Given the description of an element on the screen output the (x, y) to click on. 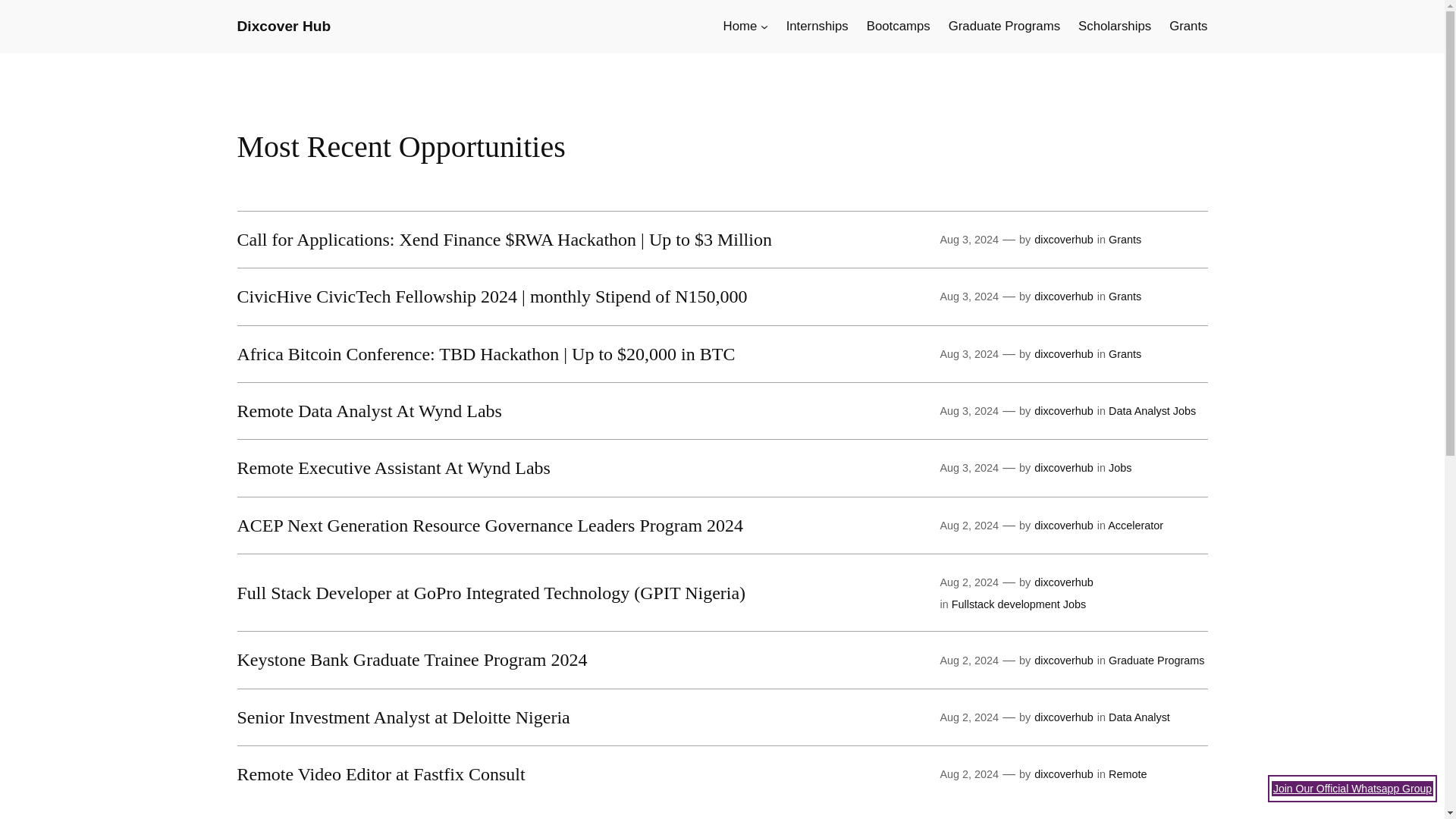
dixcoverhub (1063, 467)
Scholarships (1114, 26)
Aug 3, 2024 (968, 239)
Aug 2, 2024 (968, 525)
dixcoverhub (1063, 354)
Accelerator (1135, 525)
Grants (1124, 296)
Internships (817, 26)
Home (740, 26)
Aug 3, 2024 (968, 296)
dixcoverhub (1063, 410)
Bootcamps (898, 26)
Graduate Programs (1004, 26)
dixcoverhub (1063, 525)
